Given the description of an element on the screen output the (x, y) to click on. 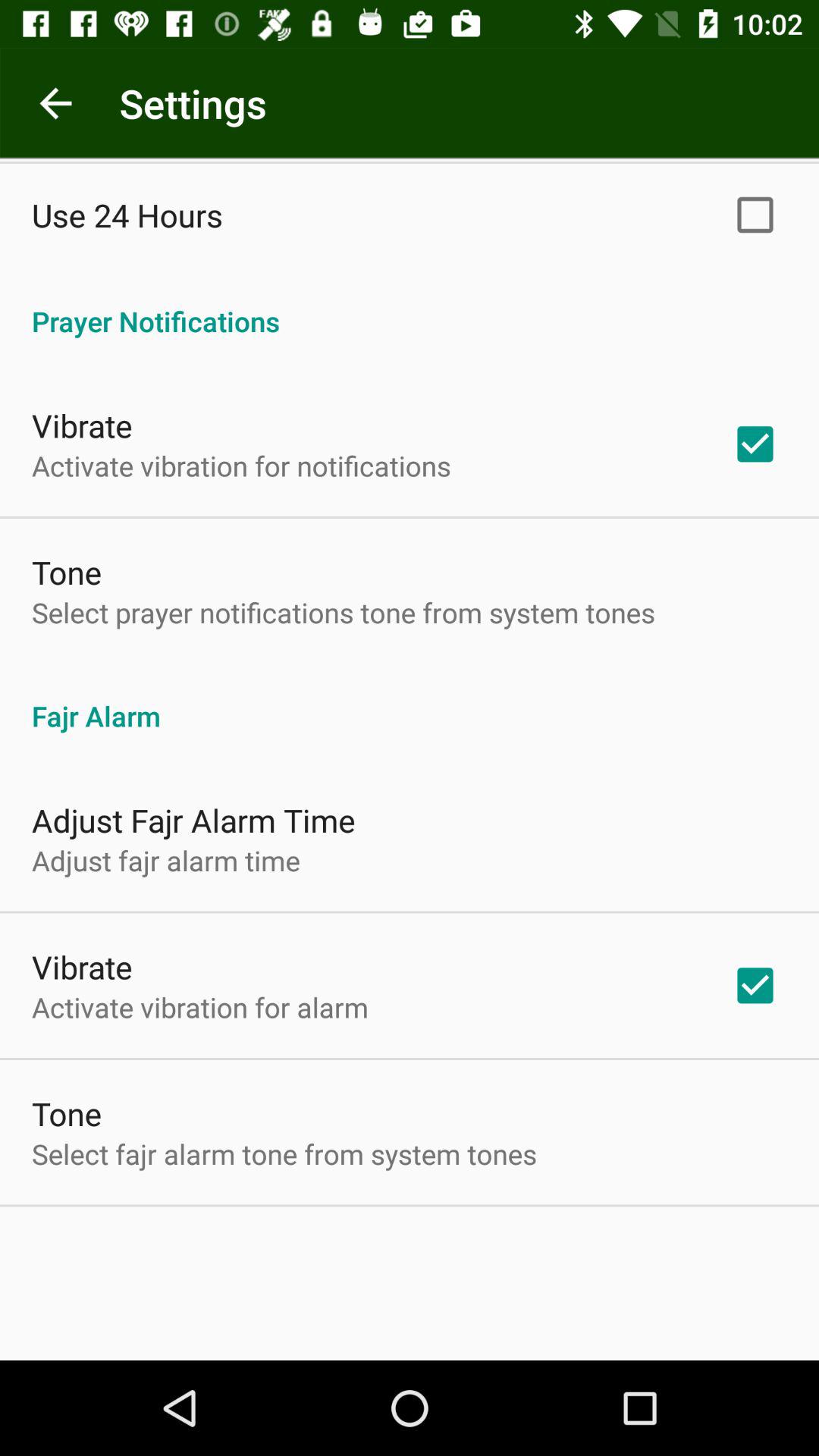
choose item next to the settings (55, 103)
